Given the description of an element on the screen output the (x, y) to click on. 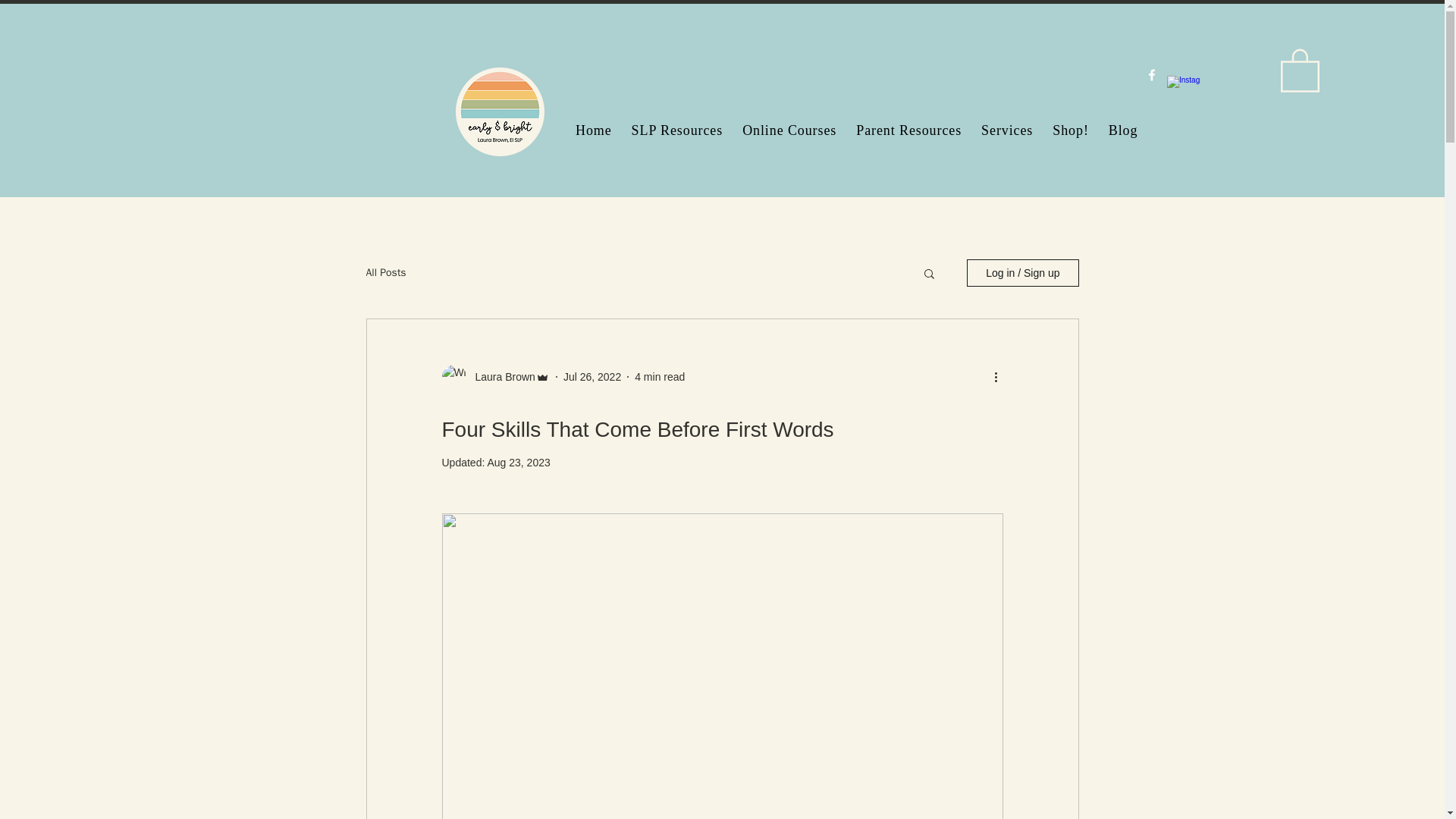
Parent Resources (908, 130)
Laura Brown (499, 376)
Blog (1122, 130)
Services (1007, 130)
Shop! (1070, 130)
Aug 23, 2023 (518, 462)
4 min read (659, 376)
All Posts (385, 273)
SLP Resources (677, 130)
Jul 26, 2022 (592, 376)
Home (593, 130)
Online Courses (789, 130)
